Given the description of an element on the screen output the (x, y) to click on. 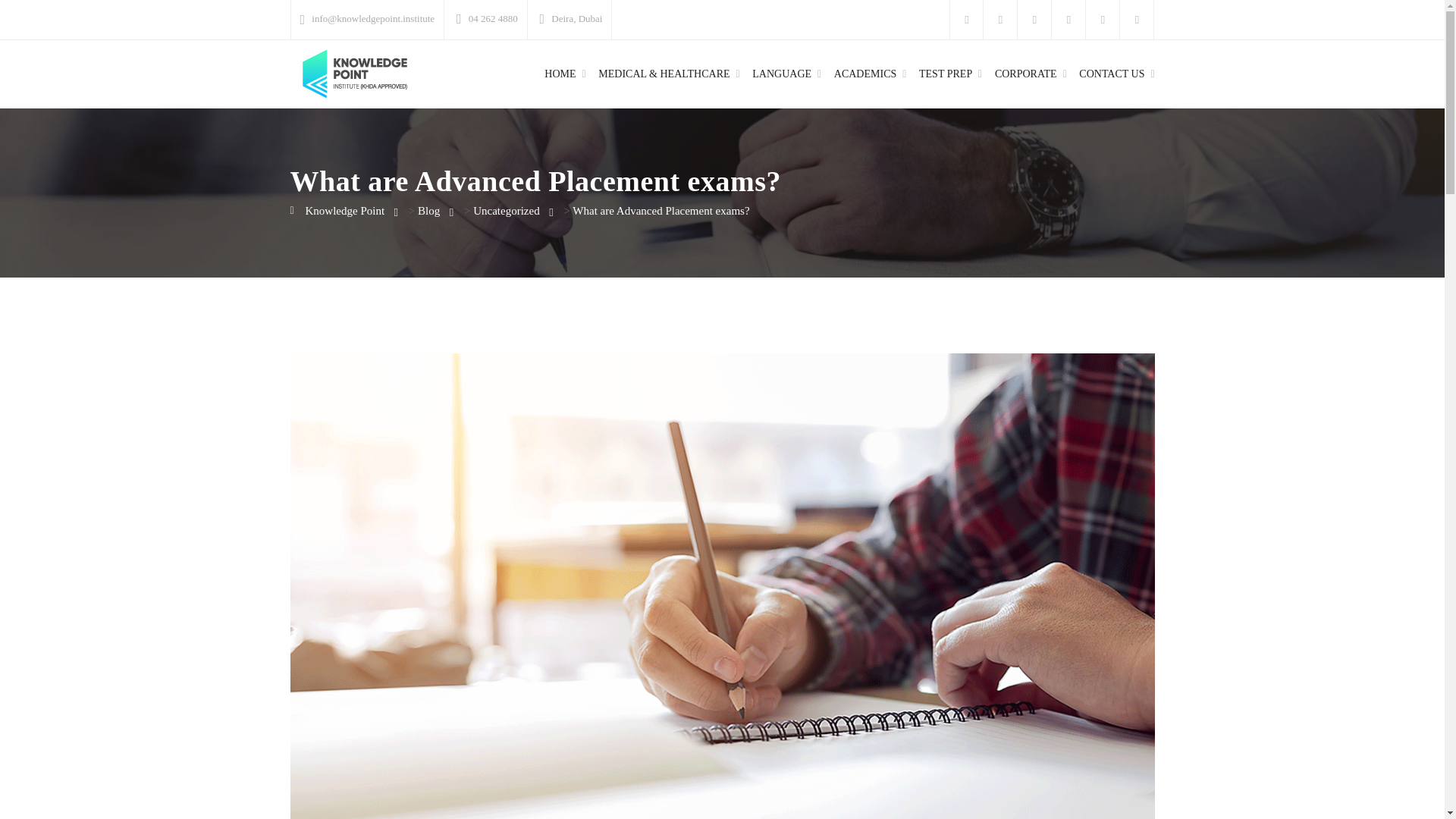
ACADEMICS (865, 73)
Go to Blog. (428, 210)
04 262 4880 (493, 18)
Go to the Uncategorized Category archives. (505, 210)
Go to Knowledge Point. (336, 210)
LANGUAGE (781, 73)
